Given the description of an element on the screen output the (x, y) to click on. 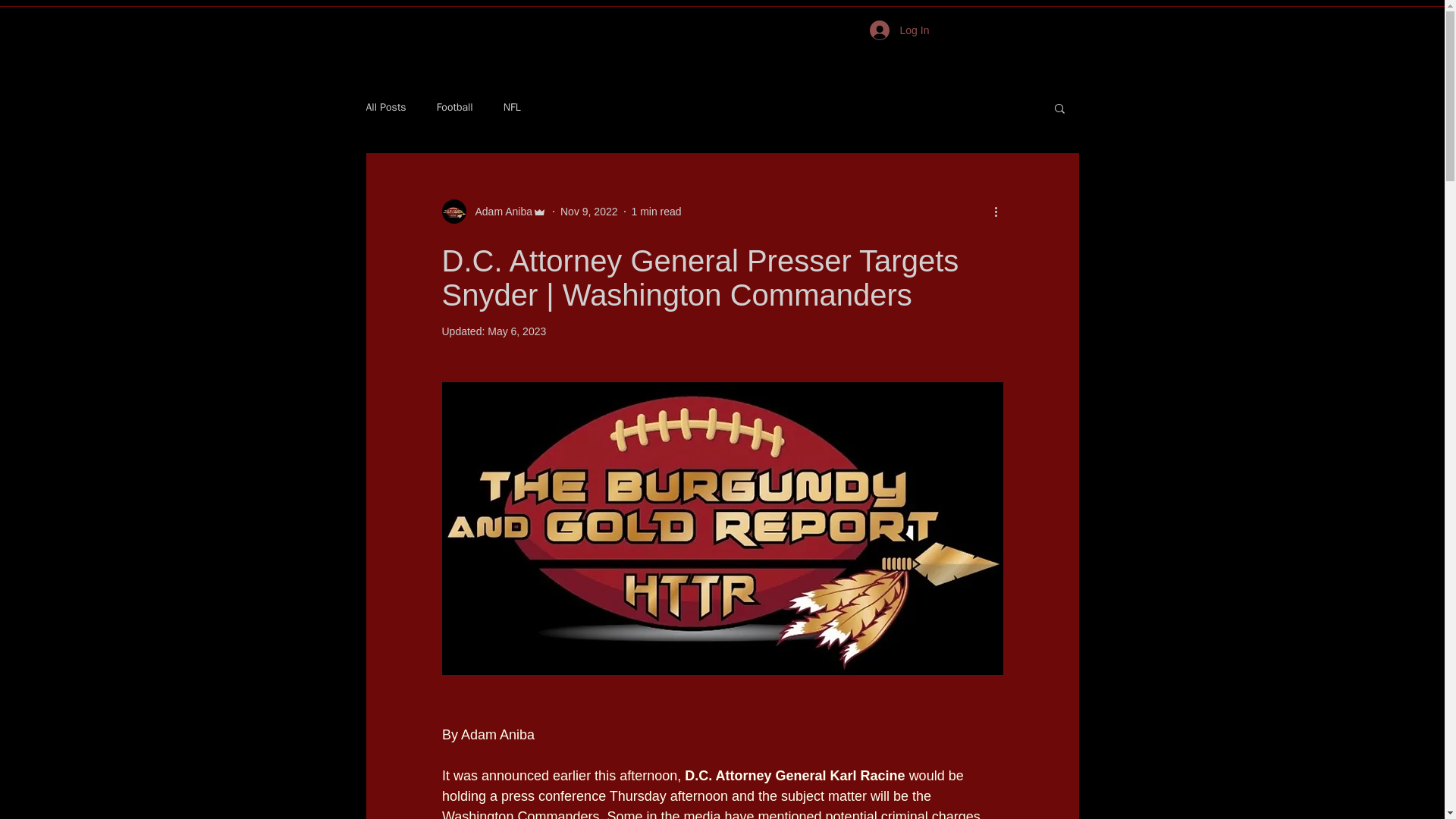
NFL (512, 107)
Adam Aniba (494, 211)
1 min read (655, 210)
Log In (881, 30)
Adam Aniba (498, 211)
All Posts (385, 107)
Nov 9, 2022 (588, 210)
May 6, 2023 (516, 331)
Football (454, 107)
